Given the description of an element on the screen output the (x, y) to click on. 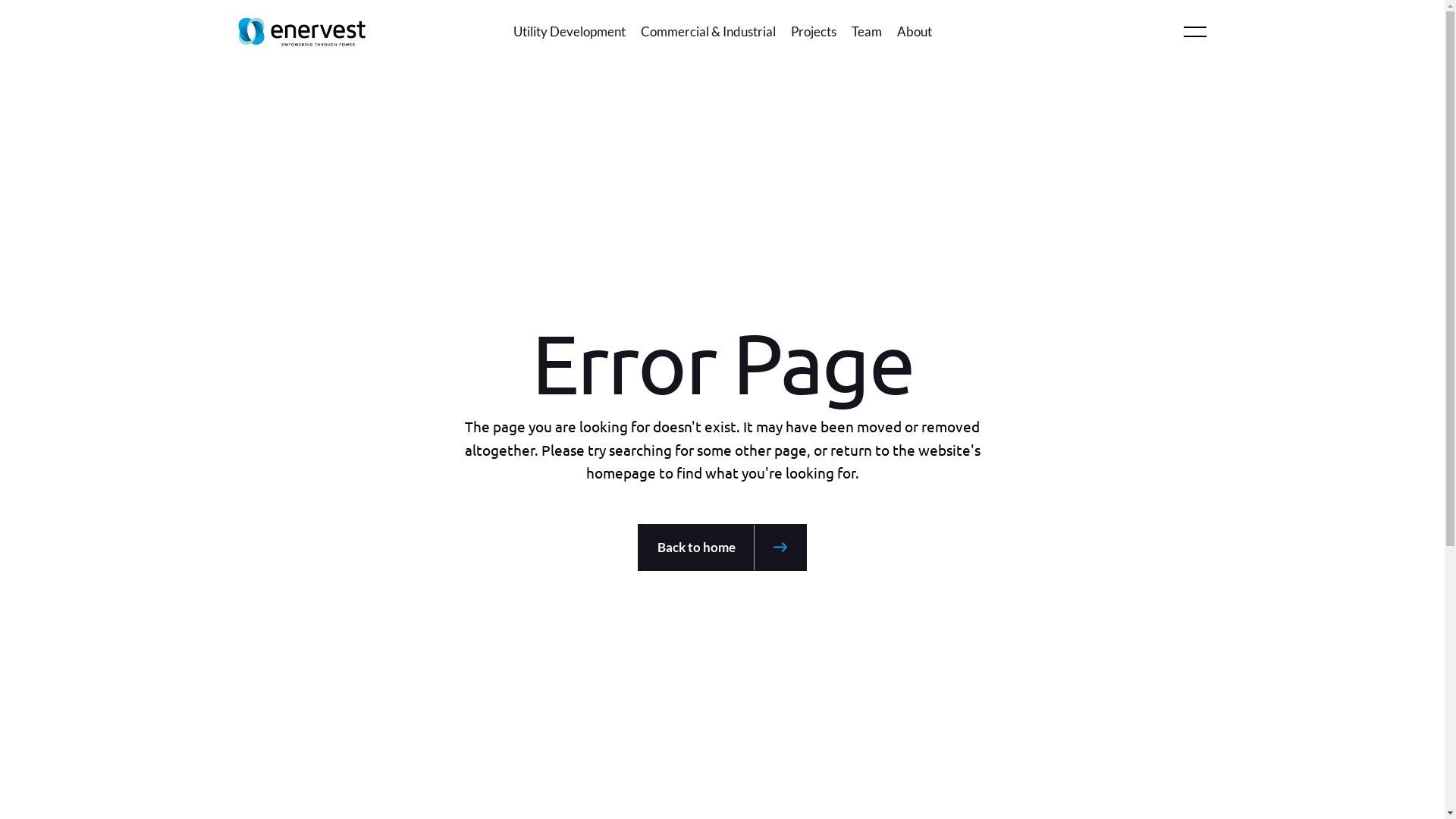
Team Element type: text (865, 31)
Back to home Element type: text (721, 547)
Commercial & Industrial Element type: text (707, 31)
Utility Development Element type: text (568, 31)
Projects Element type: text (812, 31)
About Element type: text (913, 31)
